Given the description of an element on the screen output the (x, y) to click on. 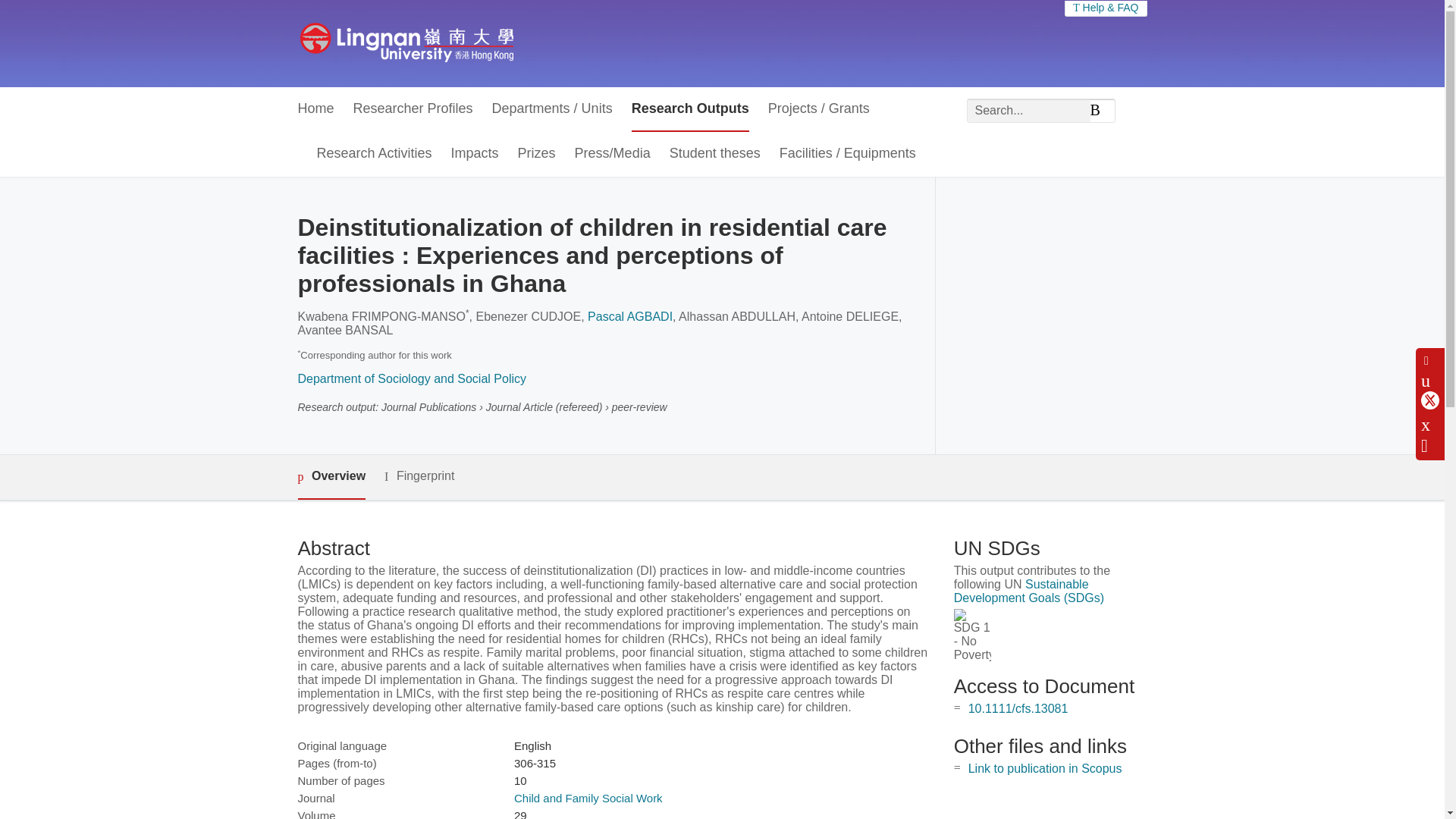
Researcher Profiles (413, 108)
Link to publication in Scopus (1045, 768)
Impacts (475, 153)
Overview (331, 477)
Fingerprint (419, 476)
Department of Sociology and Social Policy (411, 378)
Lingnan Scholars Home (406, 43)
Pascal AGBADI (630, 316)
Research Outputs (690, 108)
